Given the description of an element on the screen output the (x, y) to click on. 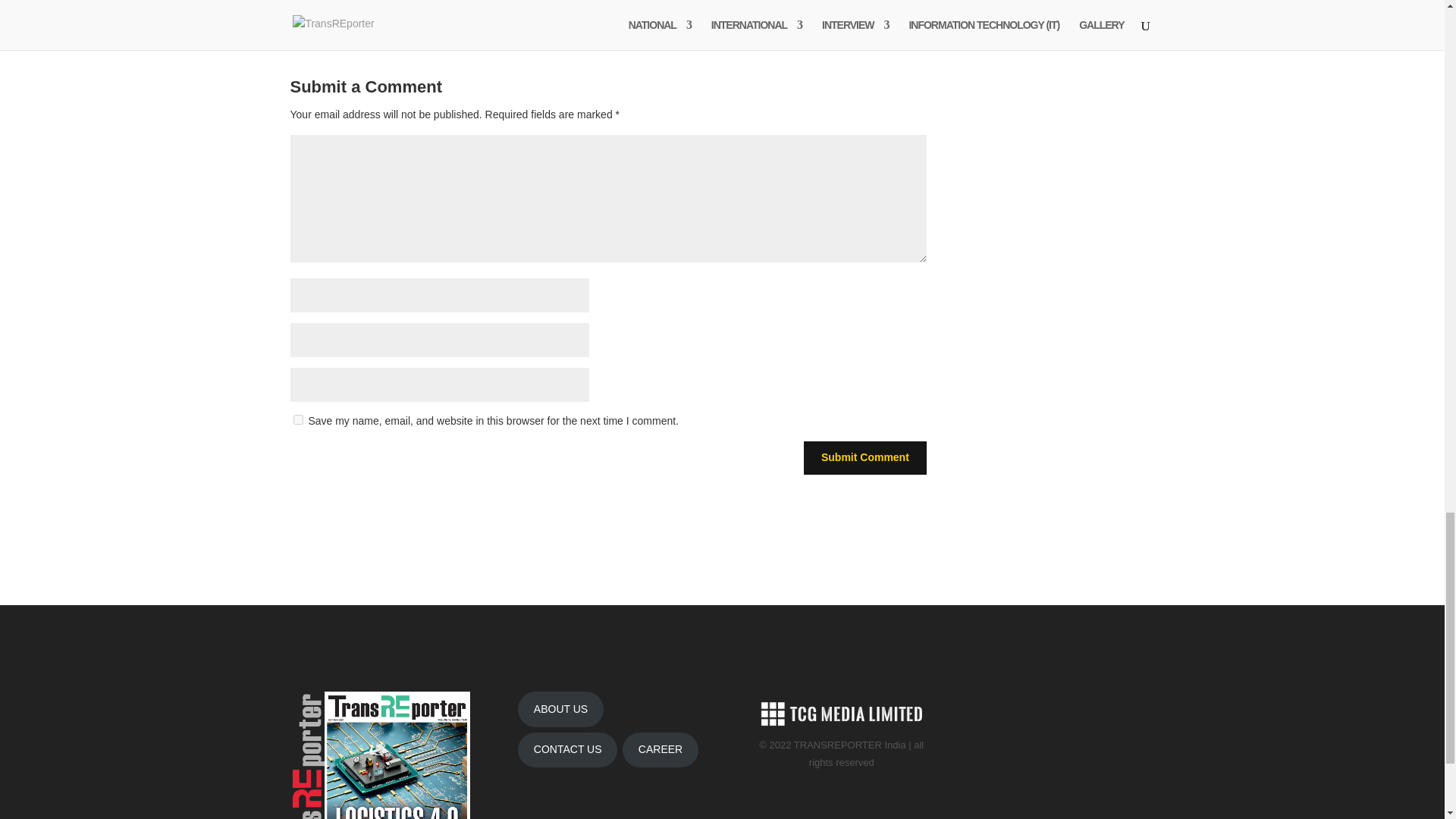
Submit Comment (864, 458)
yes (297, 419)
